Given the description of an element on the screen output the (x, y) to click on. 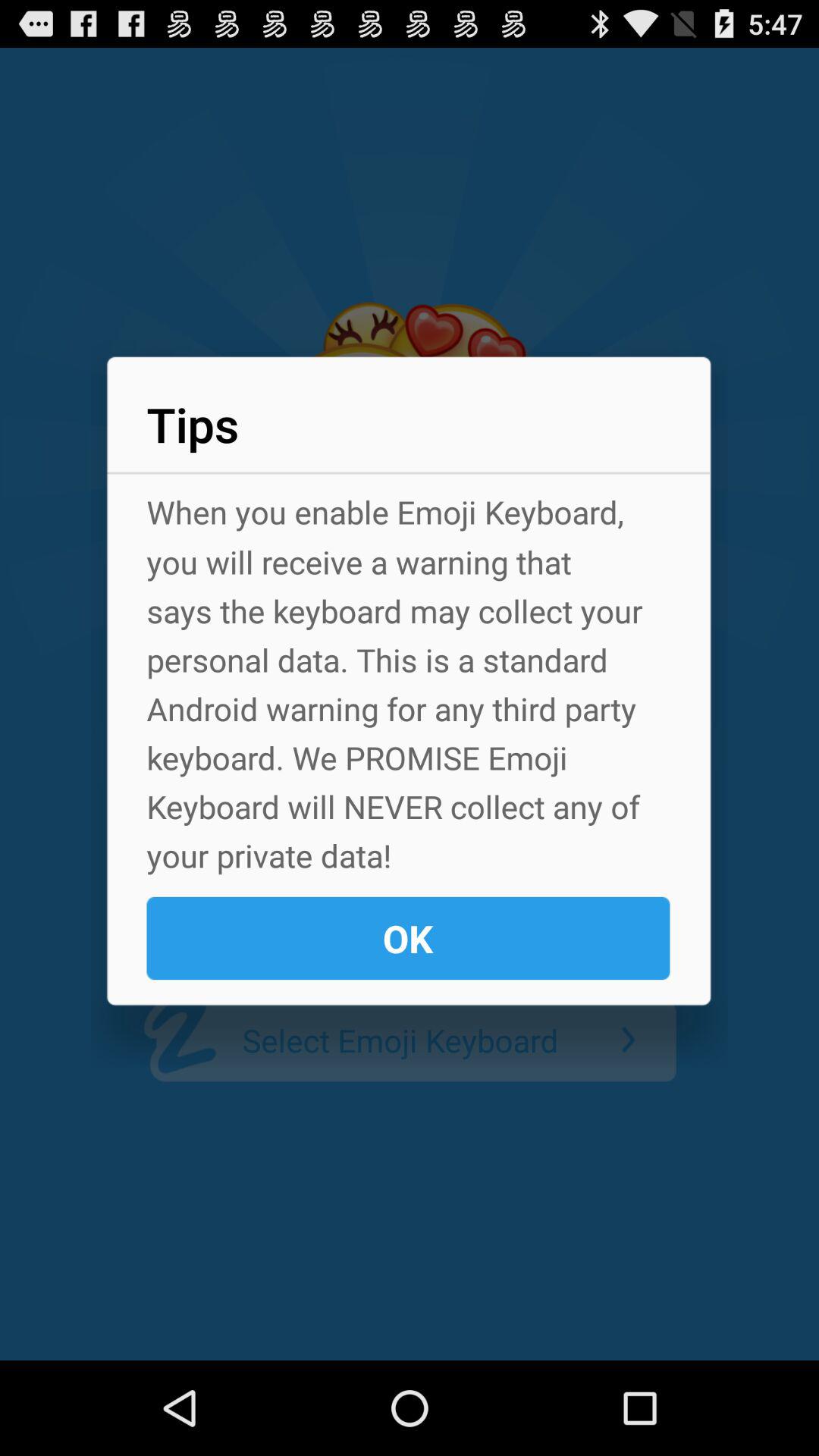
jump until ok button (407, 937)
